Given the description of an element on the screen output the (x, y) to click on. 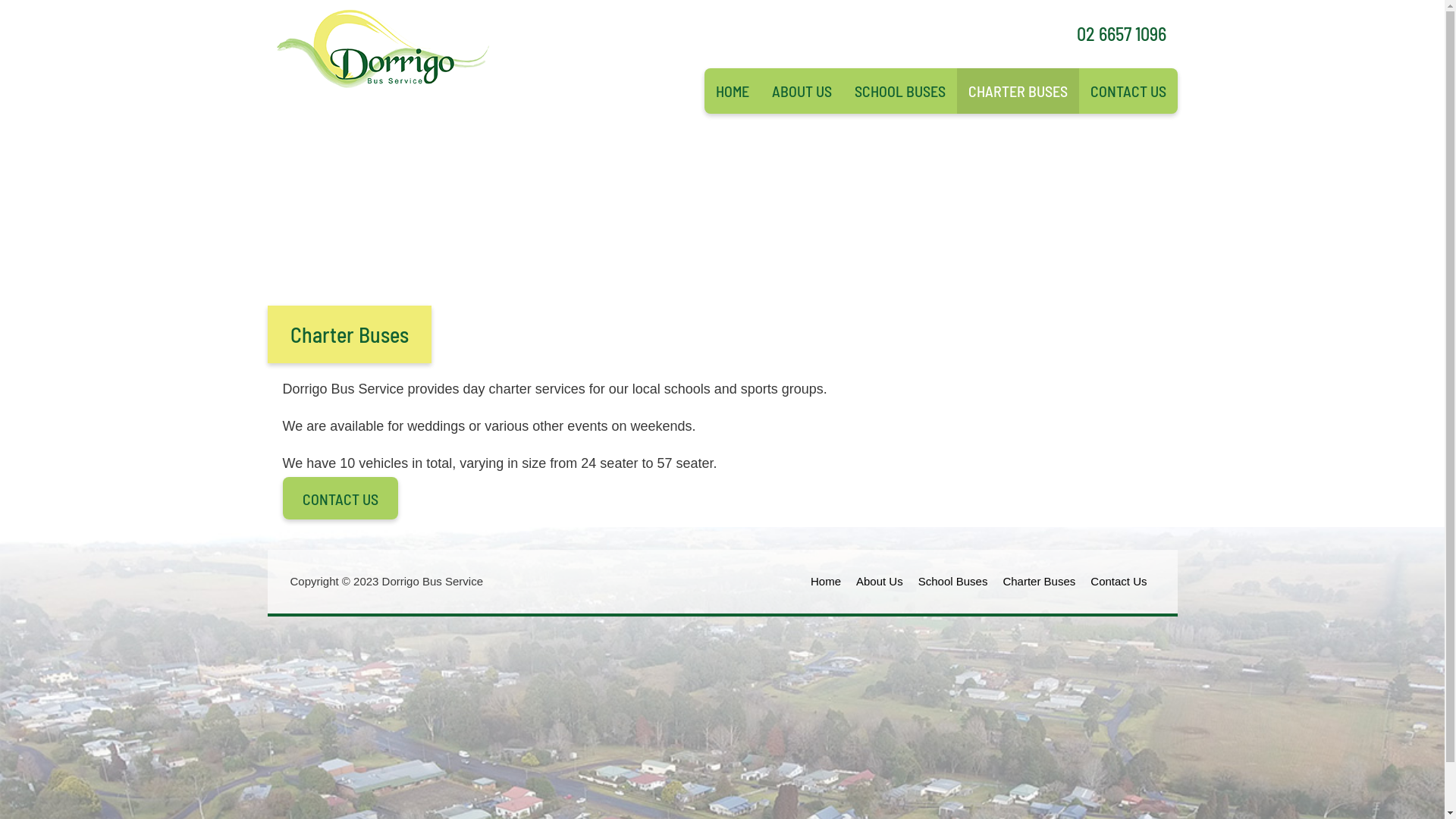
ABOUT US Element type: text (800, 90)
CHARTER BUSES Element type: text (1018, 90)
CONTACT US Element type: text (1127, 90)
SCHOOL BUSES Element type: text (900, 90)
Home Element type: text (825, 581)
Contact Us Element type: text (1118, 581)
Charter Buses Element type: text (1038, 581)
CONTACT US Element type: text (340, 498)
School Buses Element type: text (952, 581)
02 6657 1096 Element type: text (1121, 33)
About Us Element type: text (879, 581)
HOME Element type: text (731, 90)
